Given the description of an element on the screen output the (x, y) to click on. 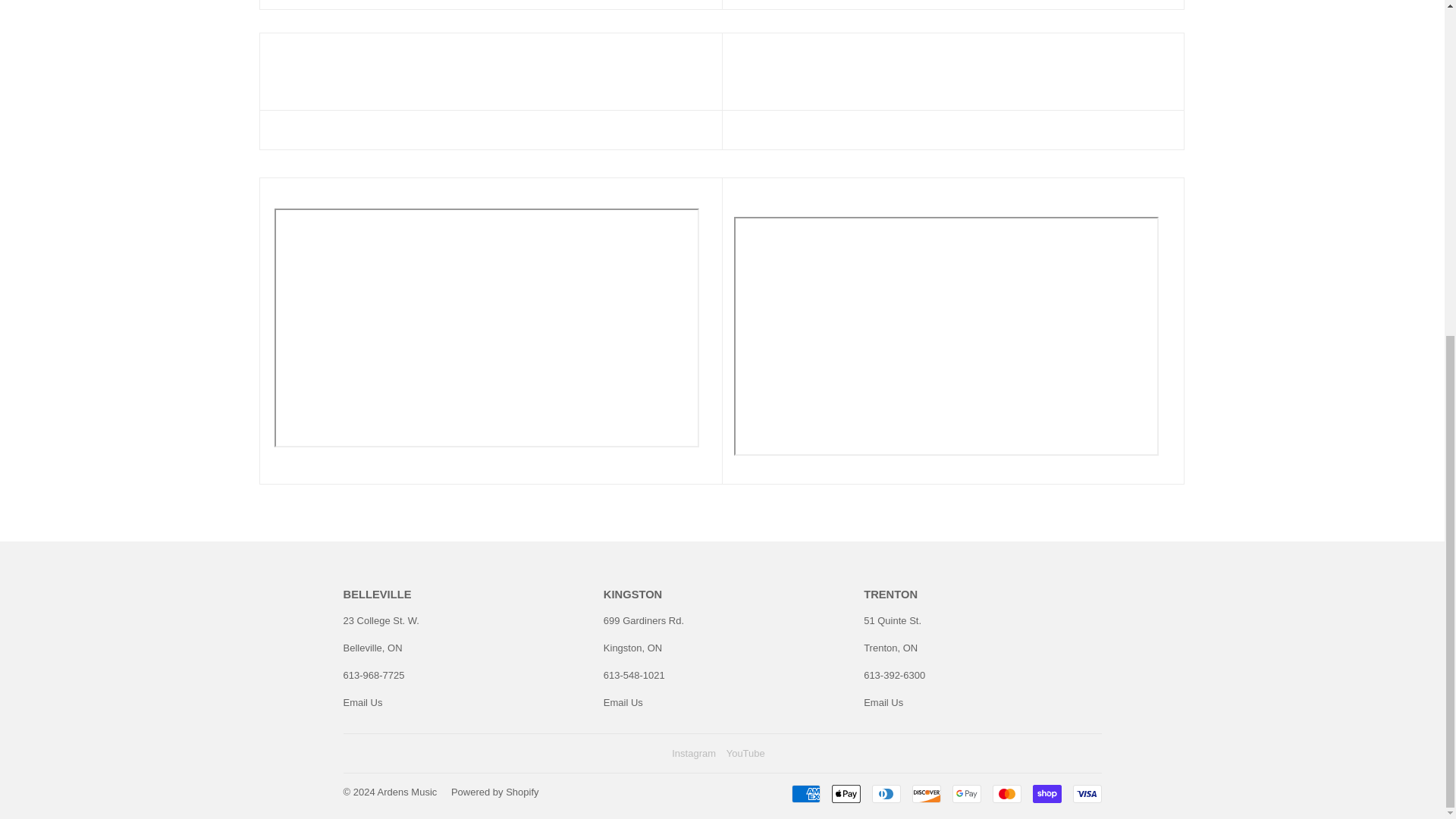
Ardens Music on YouTube (745, 753)
Visa (1085, 793)
YouTube video player (945, 336)
Mastercard (1005, 793)
Diners Club (886, 793)
Shop Pay (1046, 793)
Ardens Music on Instagram (693, 753)
YouTube video player (486, 327)
Google Pay (966, 793)
Discover (925, 793)
